Given the description of an element on the screen output the (x, y) to click on. 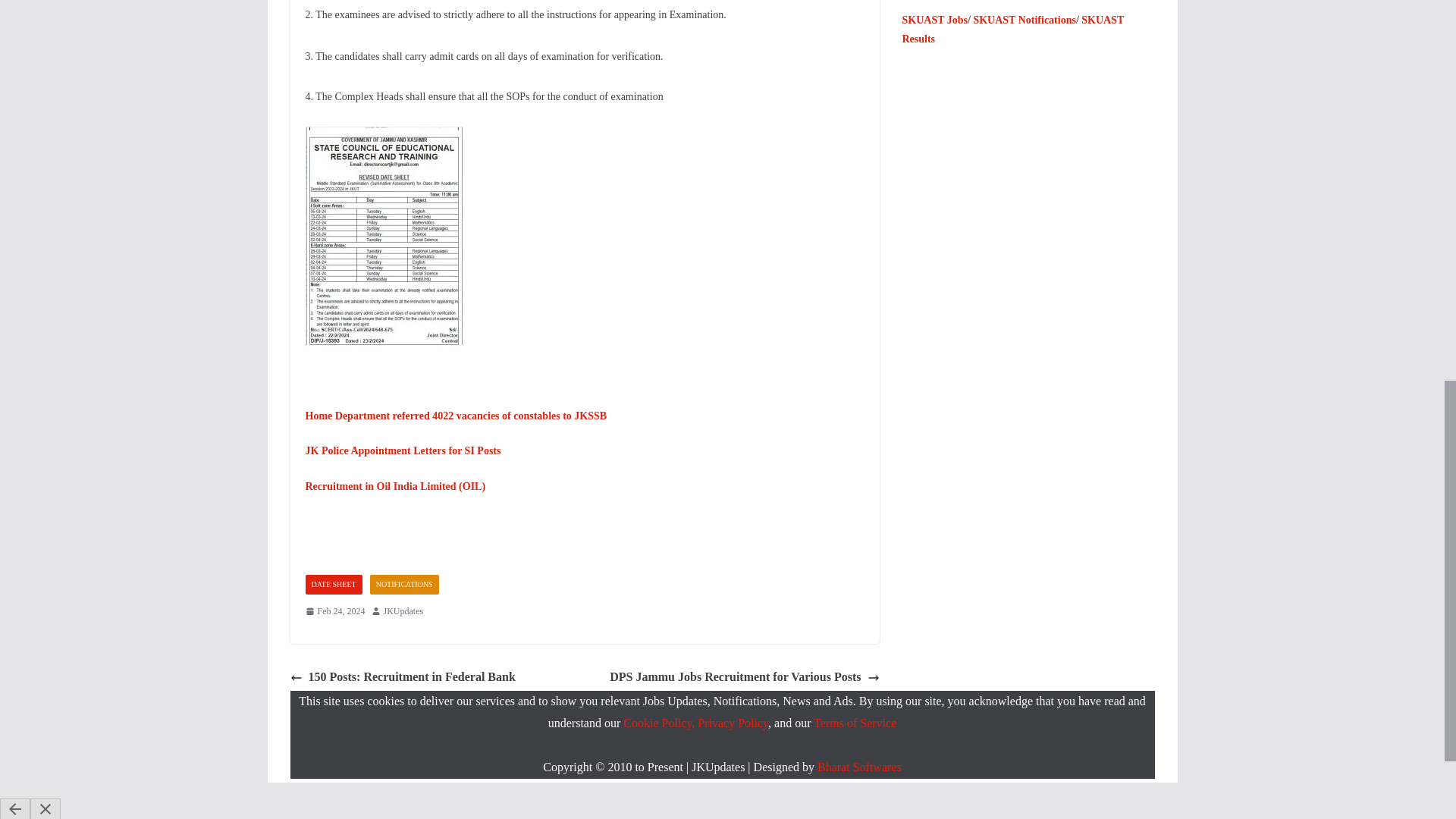
JKUpdates (403, 611)
4:53 pm (334, 611)
JK Police Appointment Letters for SI Posts (402, 450)
